Given the description of an element on the screen output the (x, y) to click on. 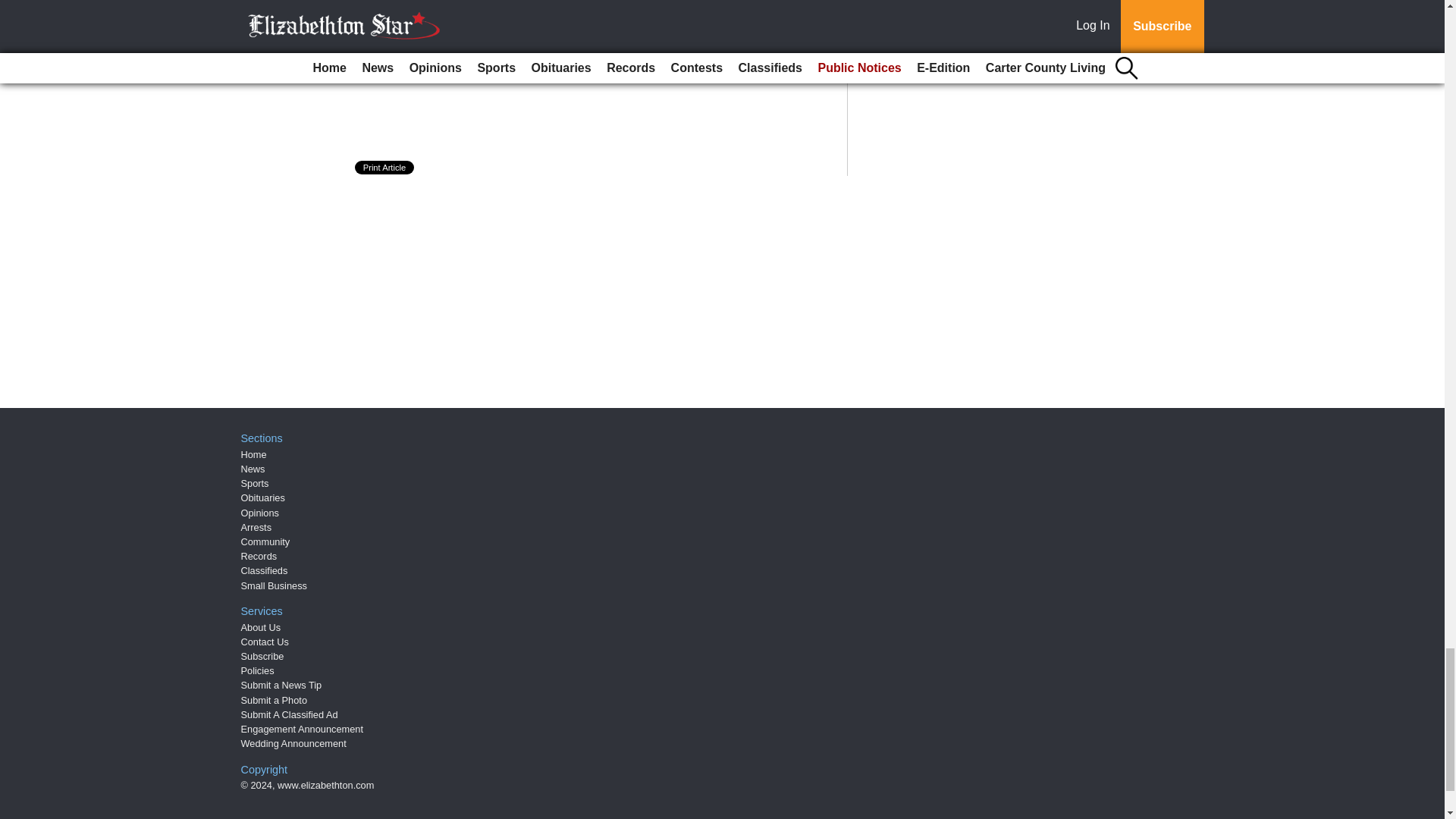
Home (253, 454)
Print Article (384, 167)
Community (265, 541)
Arrests (256, 527)
Obituaries (263, 497)
Sports (255, 482)
News (252, 469)
Opinions (260, 512)
